Given the description of an element on the screen output the (x, y) to click on. 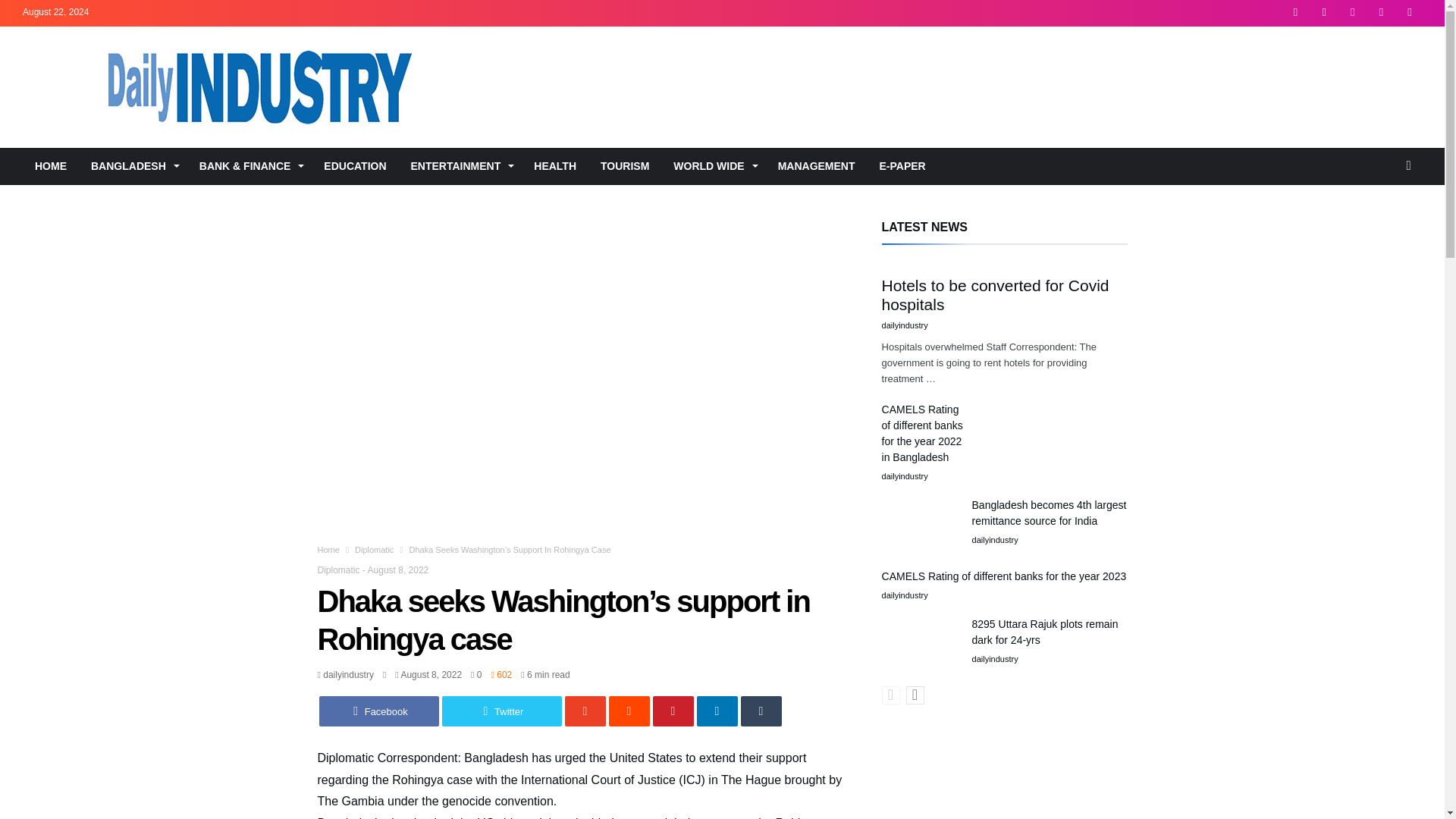
Home (328, 549)
HOME (50, 166)
dailyindustry (344, 674)
google (584, 711)
EDUCATION (354, 166)
dailyindustry (344, 674)
ENTERTAINMENT (460, 166)
Diplomatic (374, 549)
Dribbble (1380, 13)
tumblr (759, 711)
